Given the description of an element on the screen output the (x, y) to click on. 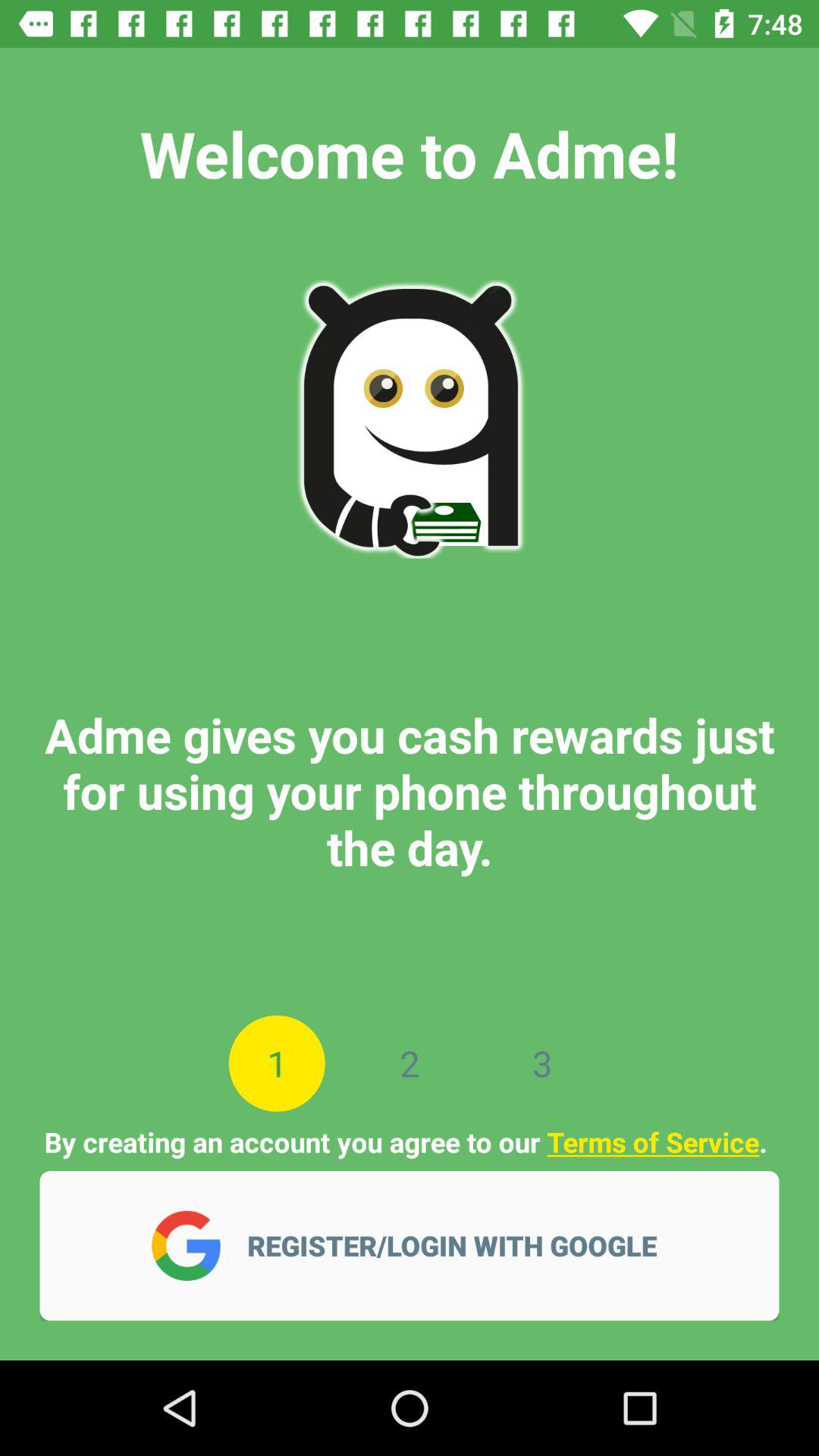
launch the icon to the left of the 2 item (276, 1063)
